Given the description of an element on the screen output the (x, y) to click on. 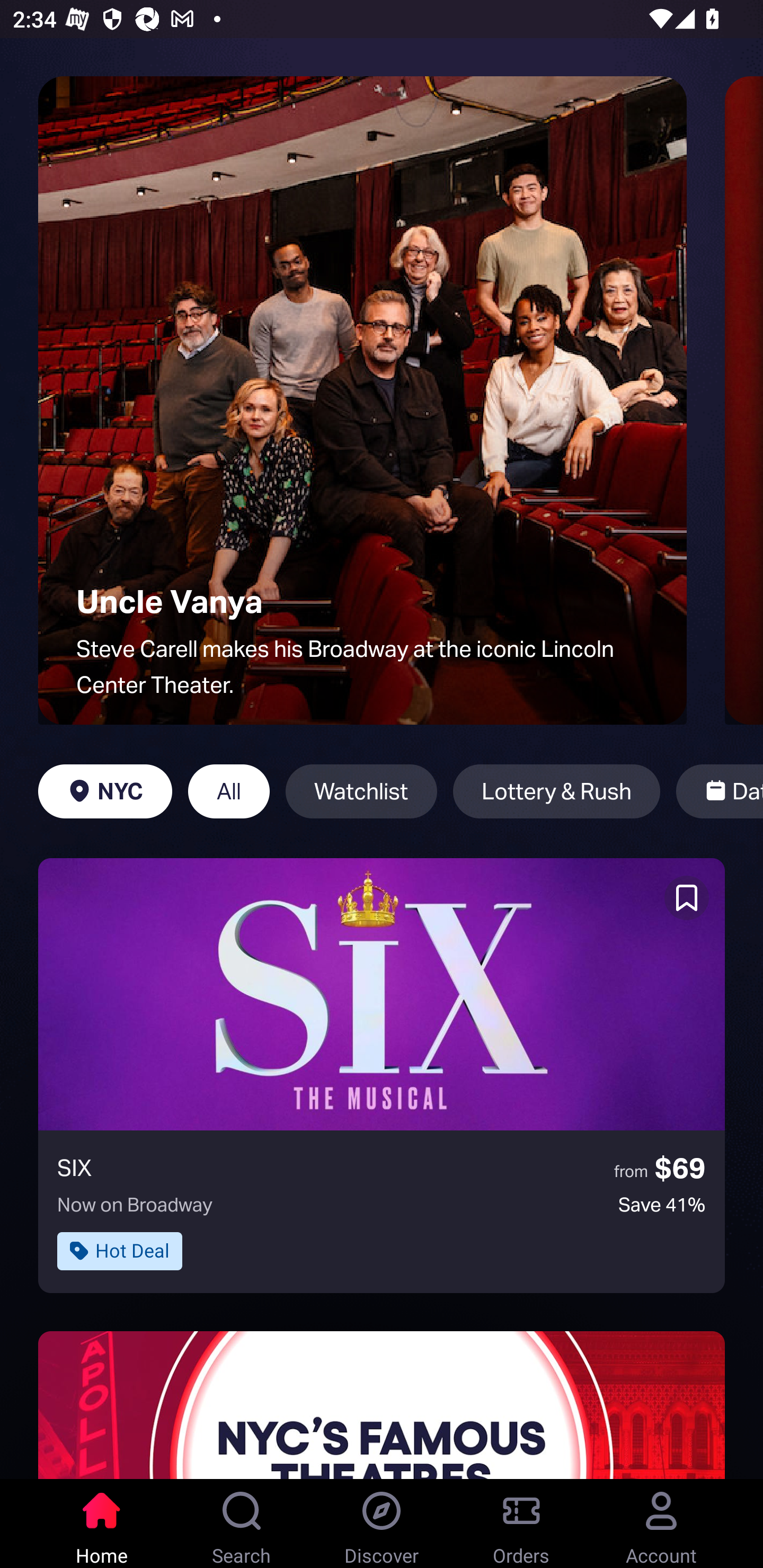
All (228, 791)
Watchlist (361, 791)
Lottery & Rush (556, 791)
Date (719, 791)
SIX from $69 Now on Broadway Save 41% Hot Deal (381, 1075)
Search (241, 1523)
Discover (381, 1523)
Orders (521, 1523)
Account (660, 1523)
